Given the description of an element on the screen output the (x, y) to click on. 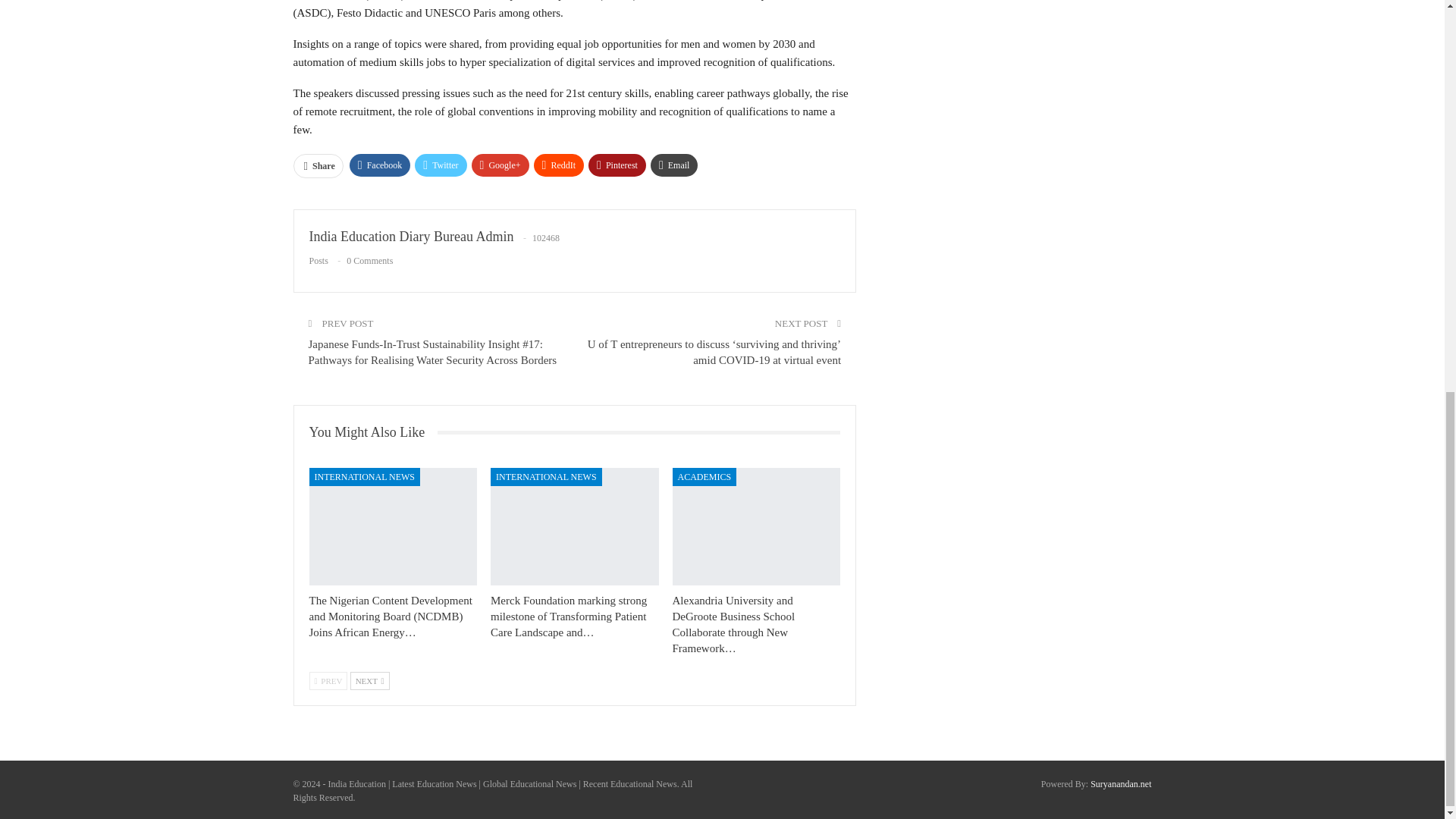
Next (370, 680)
Previous (327, 680)
